Given the description of an element on the screen output the (x, y) to click on. 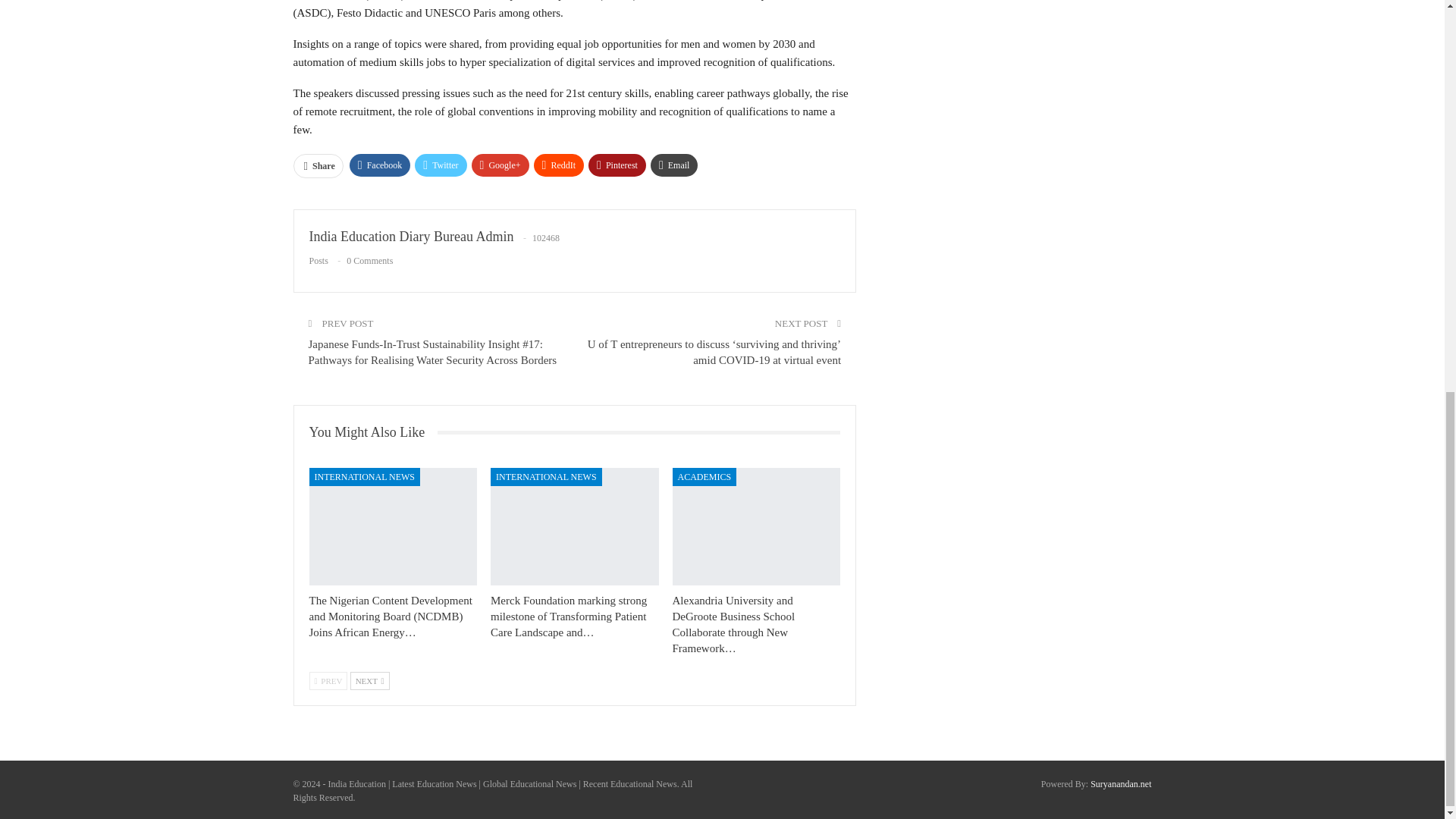
Next (370, 680)
Previous (327, 680)
